Given the description of an element on the screen output the (x, y) to click on. 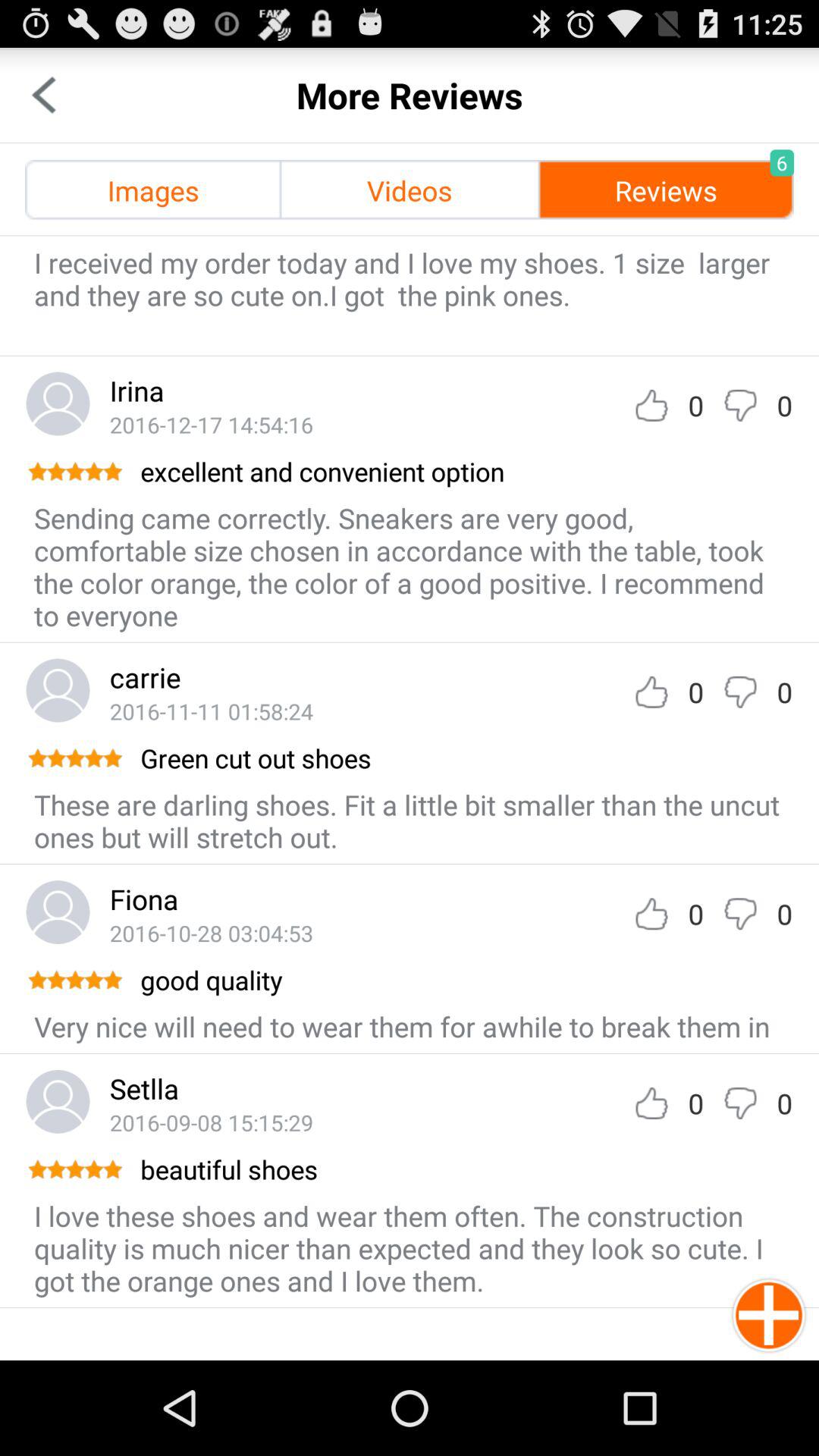
like (651, 913)
